Given the description of an element on the screen output the (x, y) to click on. 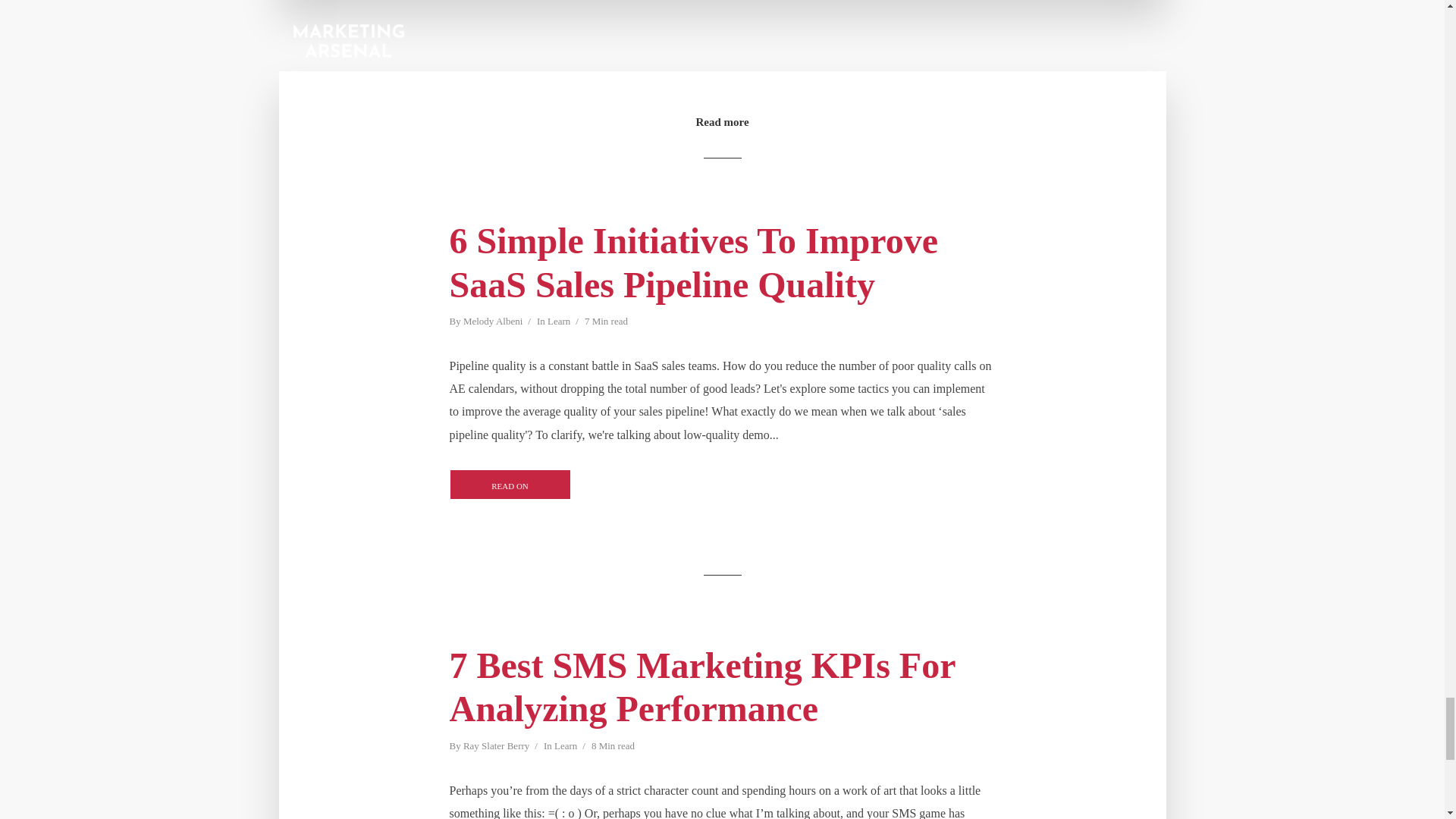
6 Simple Initiatives To Improve SaaS Sales Pipeline Quality (721, 262)
Ray Slater Berry (496, 747)
Melody Albeni (492, 322)
Learn (558, 322)
7 Best SMS Marketing KPIs For Analyzing Performance (721, 687)
READ ON (509, 484)
Learn (565, 747)
